Given the description of an element on the screen output the (x, y) to click on. 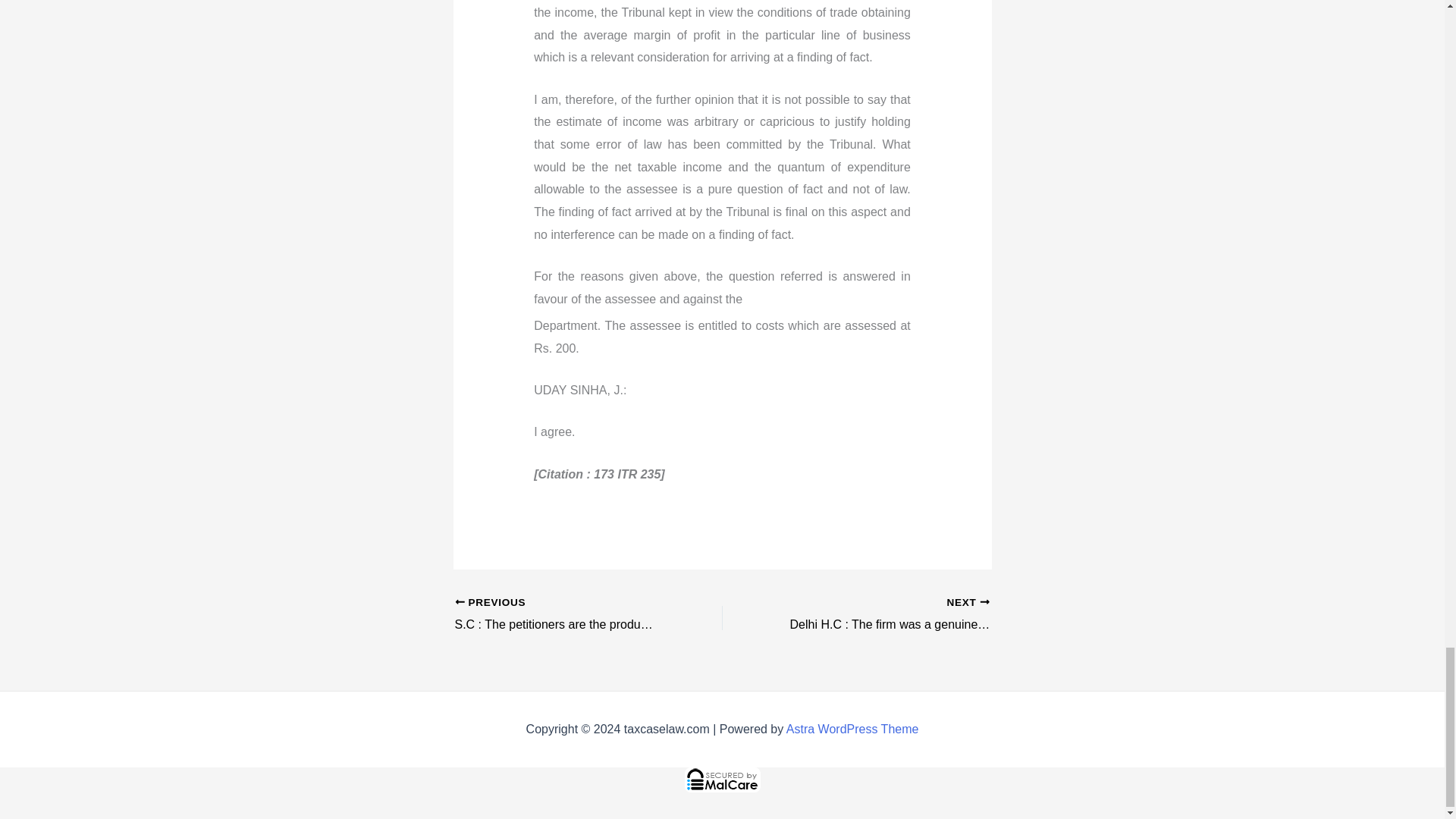
Astra WordPress Theme (852, 728)
